Given the description of an element on the screen output the (x, y) to click on. 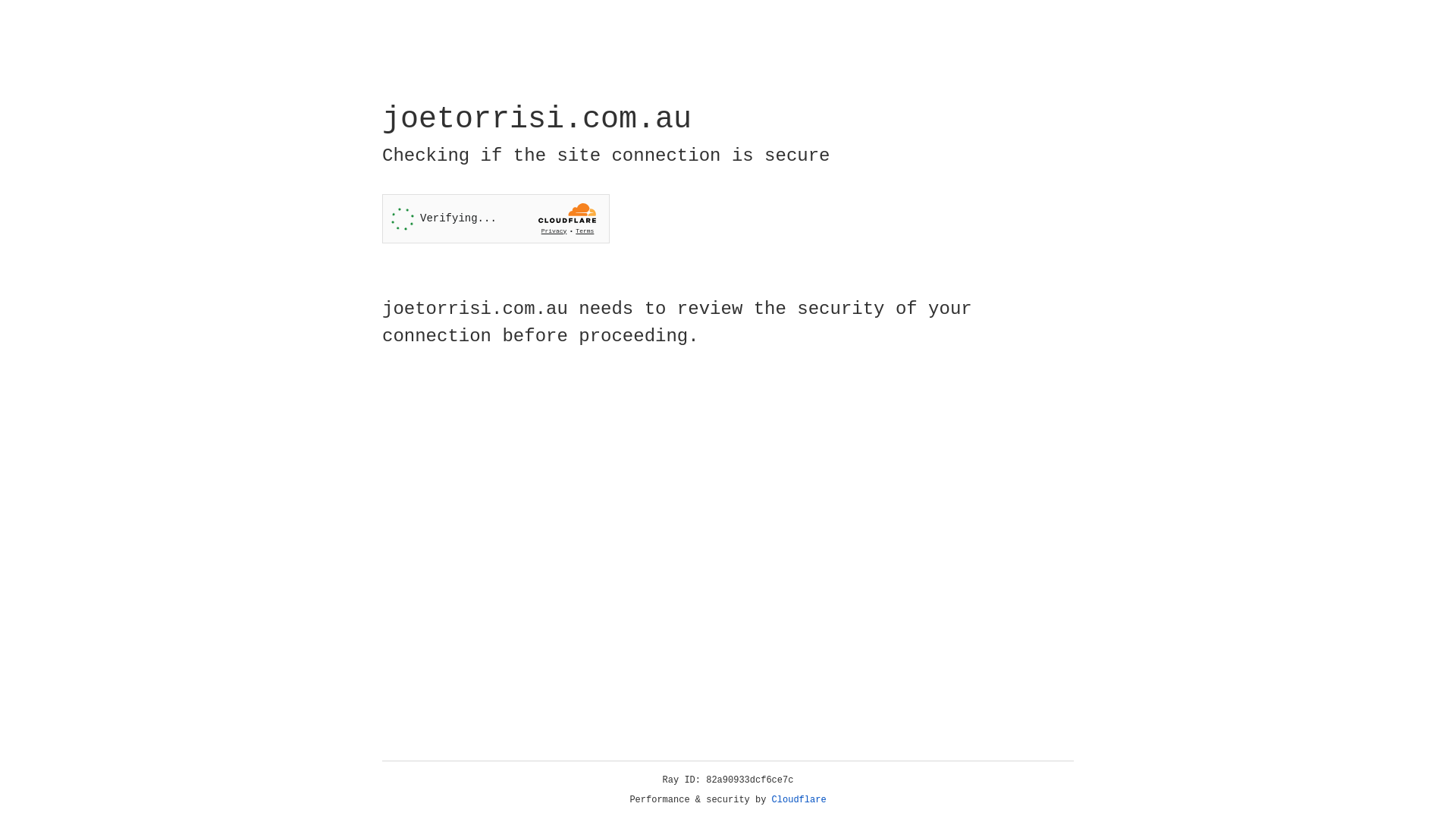
Cloudflare Element type: text (798, 799)
Widget containing a Cloudflare security challenge Element type: hover (495, 218)
